Given the description of an element on the screen output the (x, y) to click on. 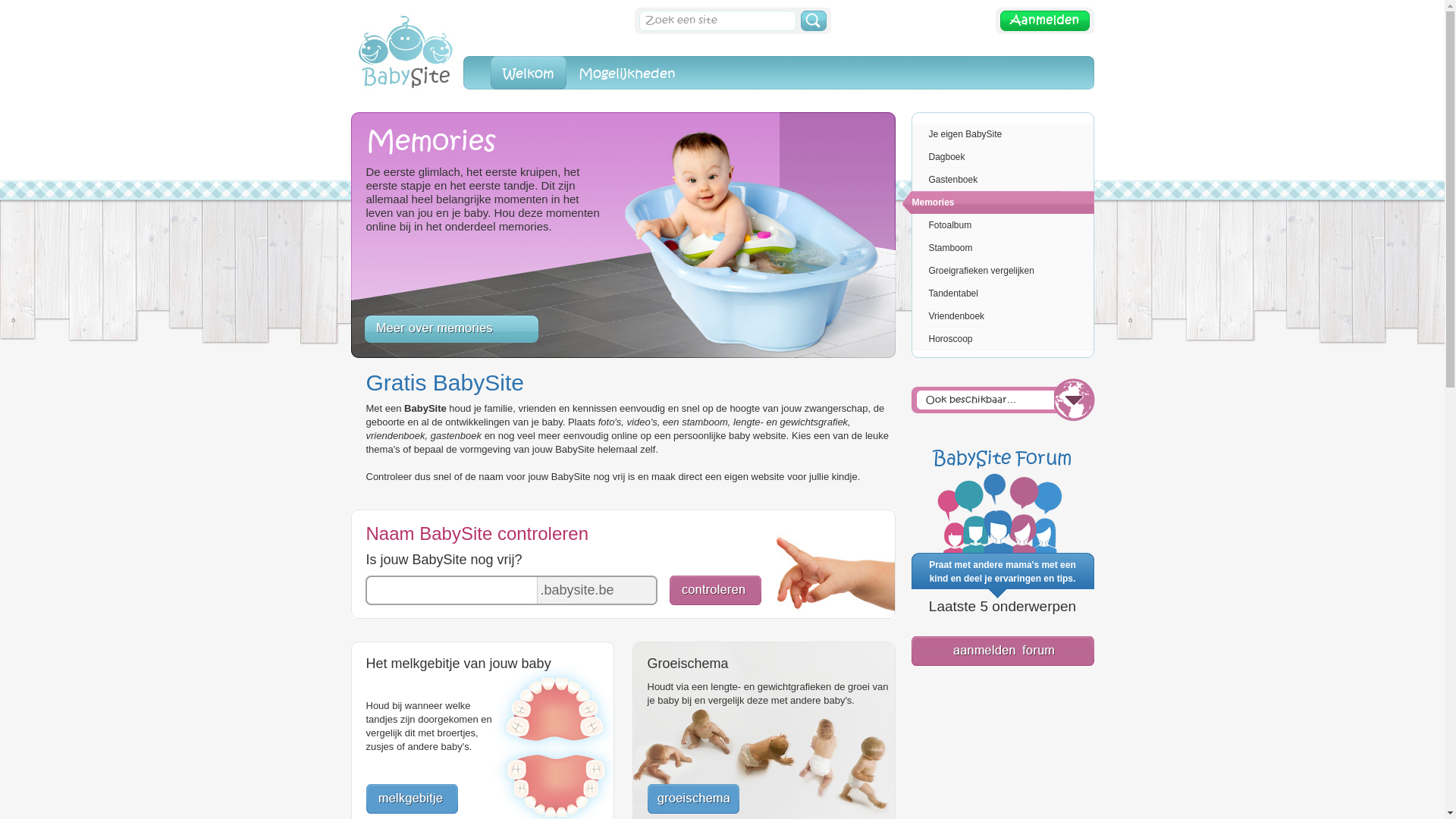
Vriendenboek Element type: text (998, 315)
Meer informatie over het gastenboek Element type: hover (450, 330)
Aanmelden forum Element type: hover (1002, 662)
Mogelijkheden Element type: text (626, 72)
babysite.be Element type: hover (406, 108)
Horoscoop Element type: text (998, 338)
Welkom Element type: text (527, 72)
Aanmelden Element type: hover (1043, 30)
Fotoalbum Element type: text (998, 224)
Dagboek Element type: text (998, 156)
Je eigen BabySite Element type: text (998, 133)
Gastenboek Element type: text (998, 179)
Tandentabel Element type: text (998, 293)
Memories Element type: text (998, 202)
Naam site controleren Element type: hover (714, 601)
Groeigrafieken vergelijken Element type: text (998, 270)
Stamboom Element type: text (998, 247)
